Given the description of an element on the screen output the (x, y) to click on. 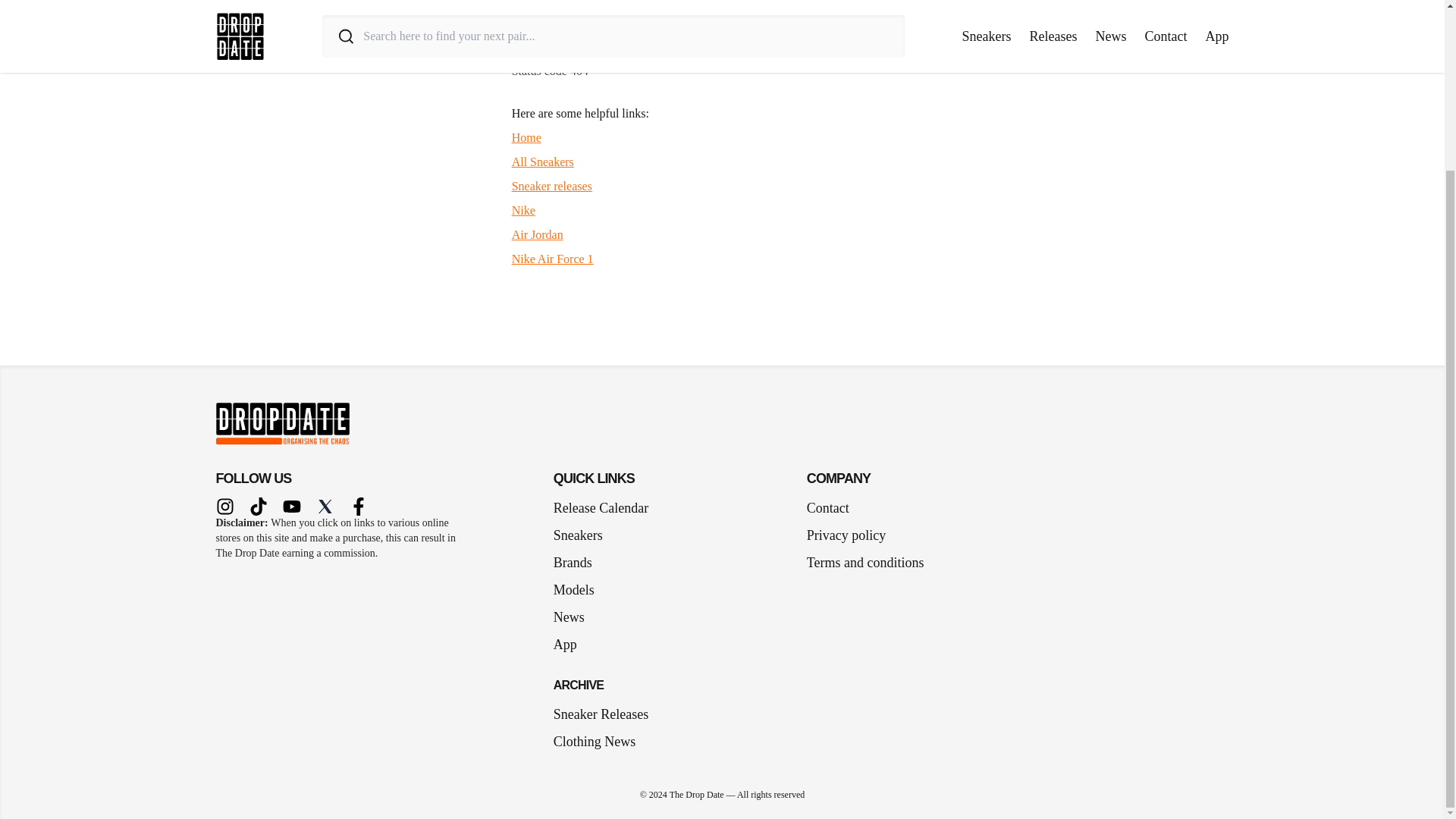
News (574, 617)
Release Calendar (600, 507)
Sneaker Releases (600, 713)
Clothing News (594, 741)
Sneaker releases (552, 185)
Nike Air Force 1 (553, 258)
App (571, 644)
Home (526, 137)
Contact (827, 507)
Models (580, 589)
